Given the description of an element on the screen output the (x, y) to click on. 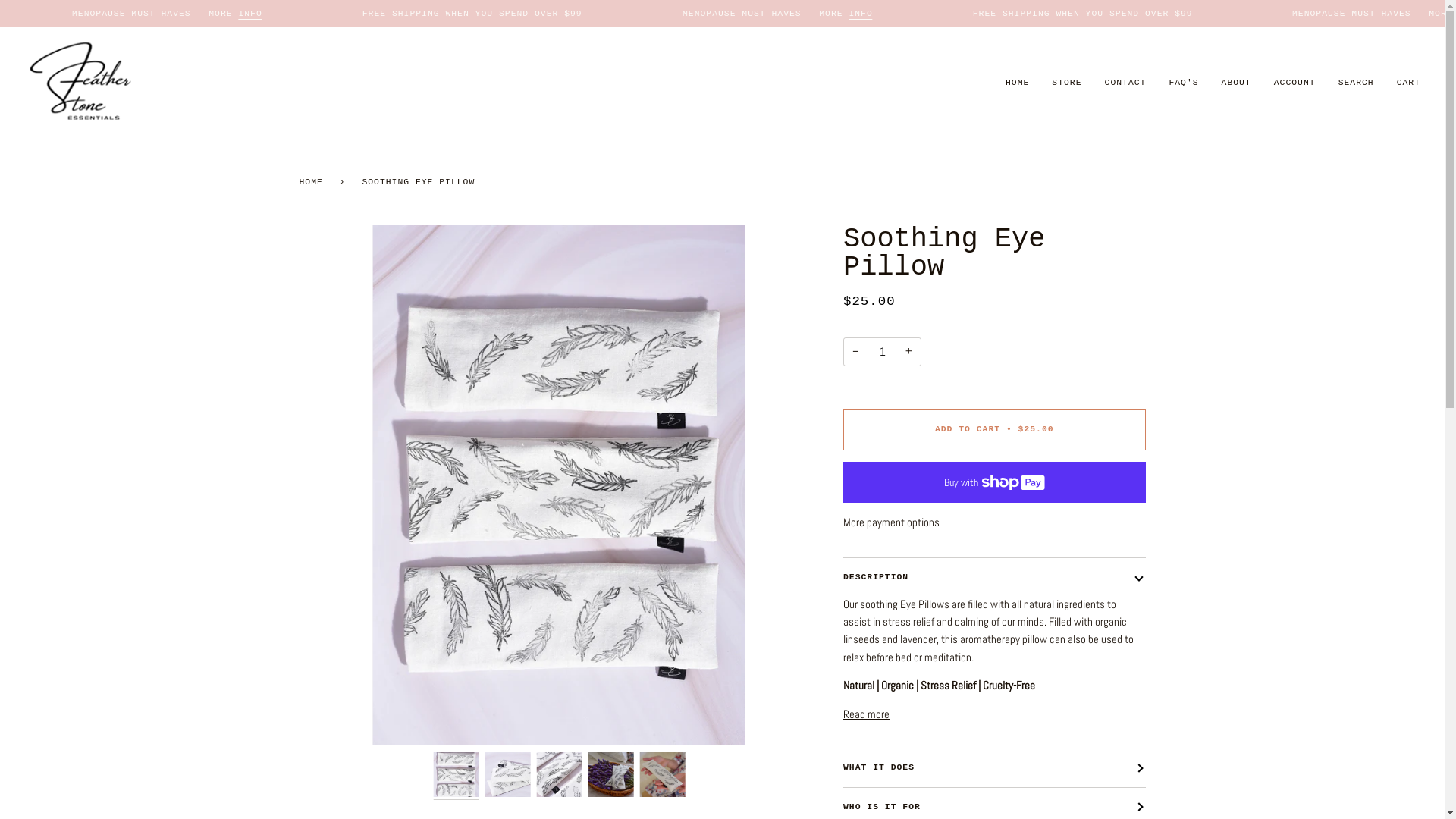
ABOUT Element type: text (1236, 82)
DESCRIPTION Element type: text (994, 577)
HOME Element type: text (1017, 82)
HOME Element type: text (312, 181)
WHAT IT DOES Element type: text (994, 767)
CONTACT Element type: text (1125, 82)
CART Element type: text (1408, 82)
INFO Element type: text (249, 13)
STORE Element type: text (1066, 82)
INFO Element type: text (860, 13)
Read more Element type: text (866, 714)
More payment options Element type: text (994, 522)
SEARCH Element type: text (1356, 82)
+ Element type: text (908, 352)
ACCOUNT Element type: text (1294, 82)
FAQ'S Element type: text (1183, 82)
